Given the description of an element on the screen output the (x, y) to click on. 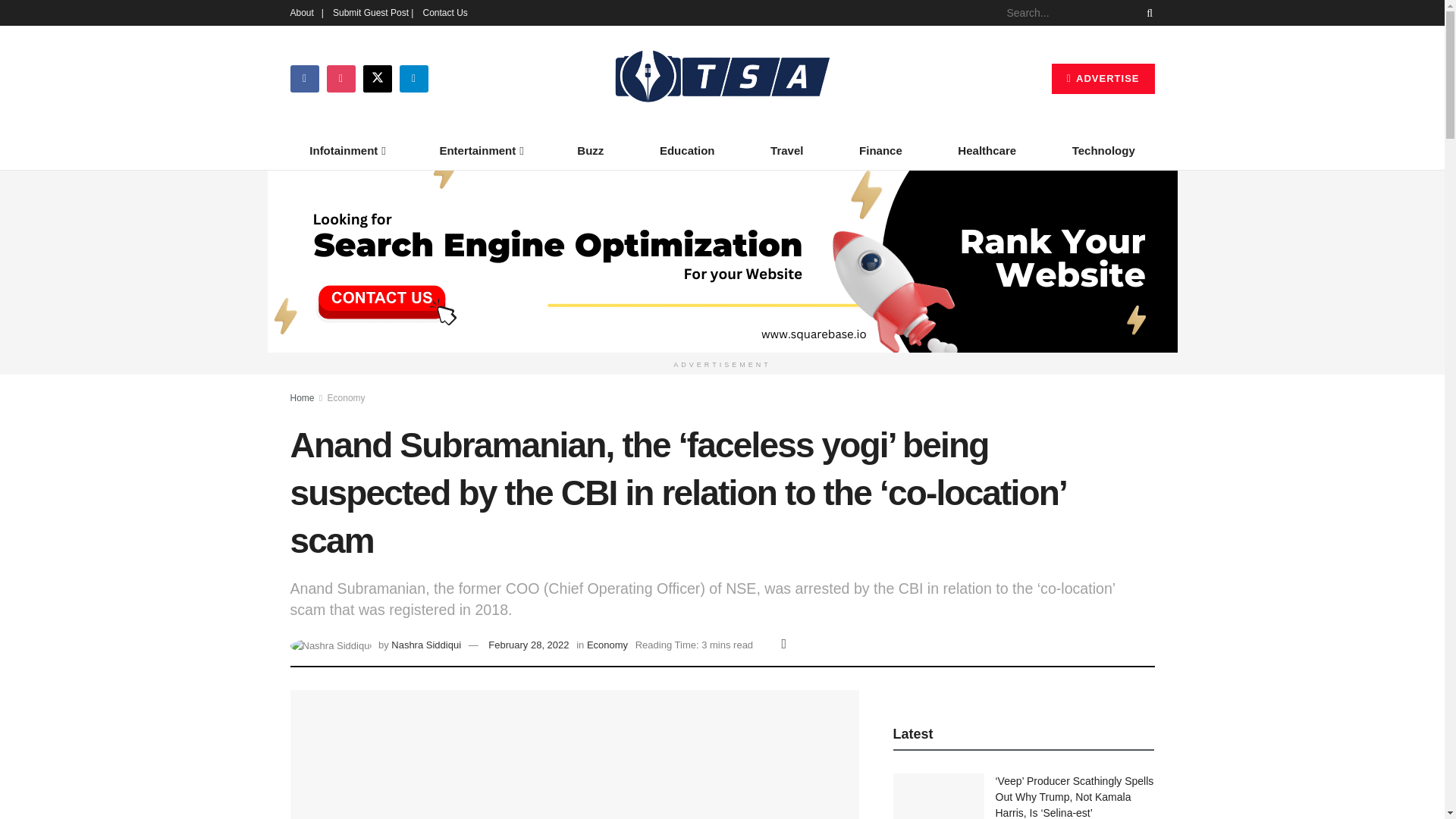
Infotainment (346, 150)
Healthcare (987, 150)
Nashra Siddiqui (426, 644)
Economy (346, 398)
Entertainment (480, 150)
ADVERTISE (1102, 78)
Travel (786, 150)
Education (686, 150)
Contact Us (444, 12)
Buzz (590, 150)
Technology (1103, 150)
Home (301, 398)
Finance (880, 150)
